Given the description of an element on the screen output the (x, y) to click on. 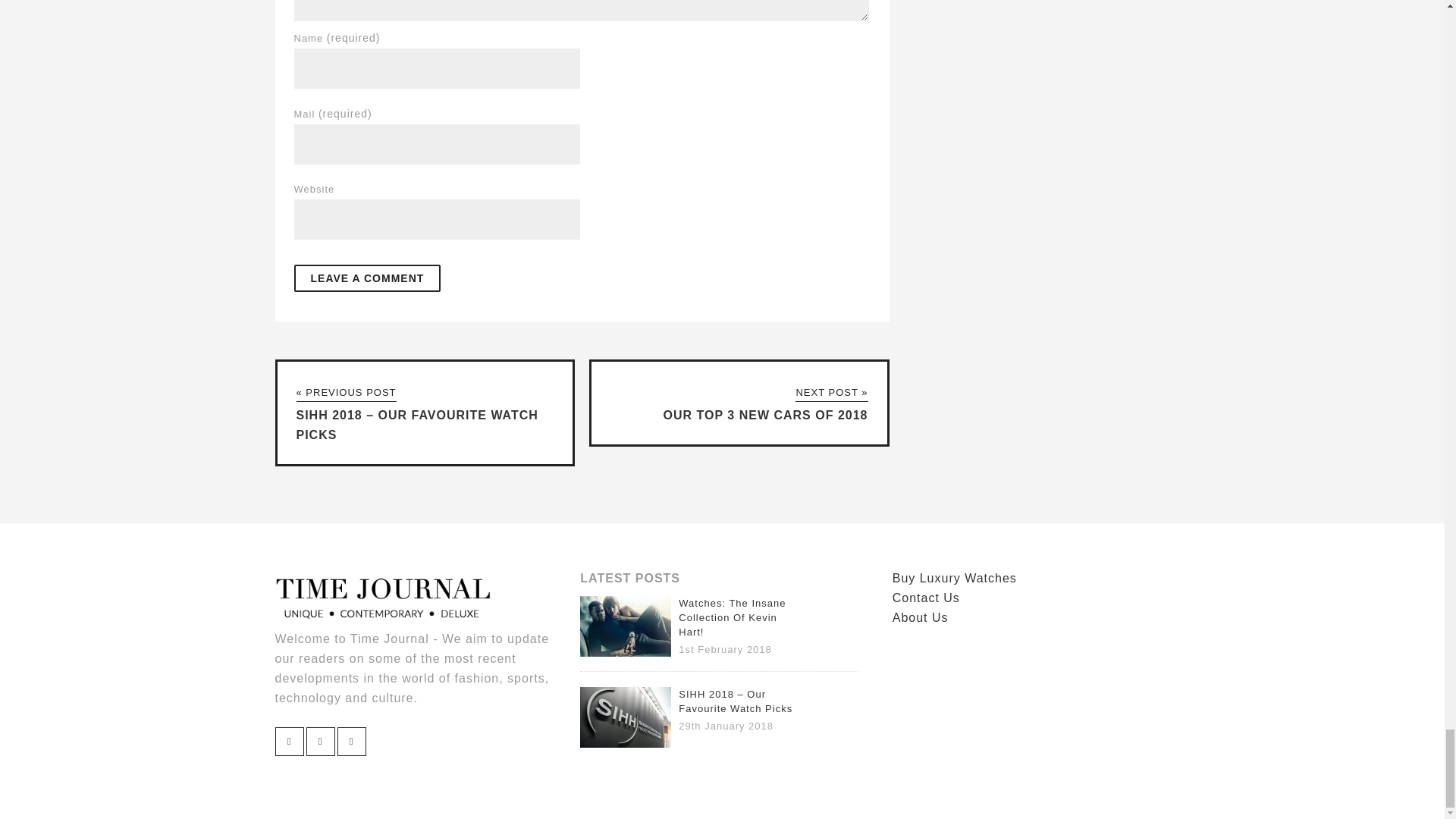
Leave a Comment (367, 277)
